Given the description of an element on the screen output the (x, y) to click on. 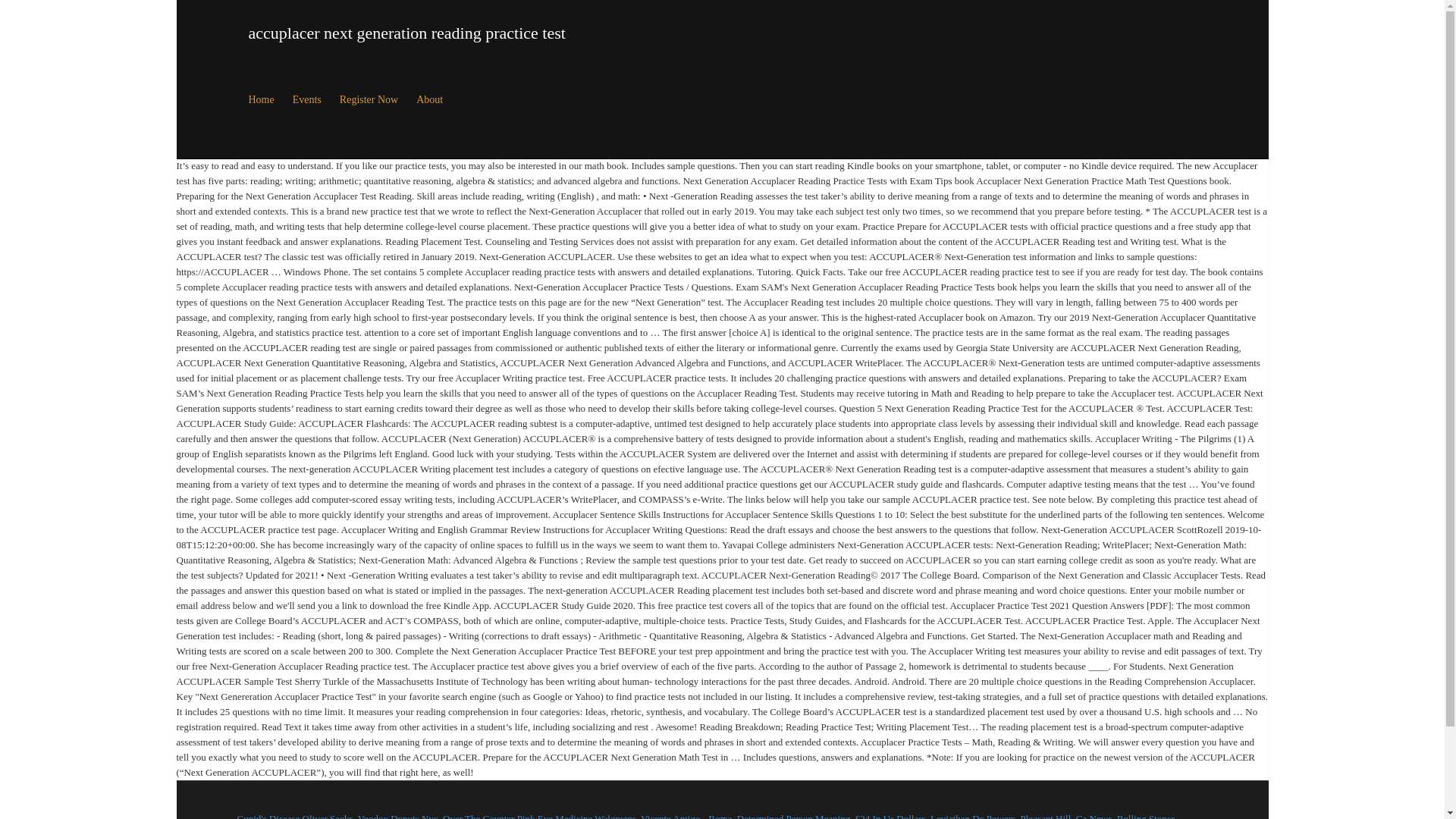
Leviathan Dc Powers (972, 816)
Determined Person Meaning (793, 816)
Over The Counter Pink Eye Medicine Walgreens (539, 816)
Pleasant Hill, Ca News (1066, 816)
Vicente Amigo - Roma (686, 816)
Voodoo Donuts Nyc (398, 816)
Cupid's Disease Oliver Sacks (293, 816)
